Given the description of an element on the screen output the (x, y) to click on. 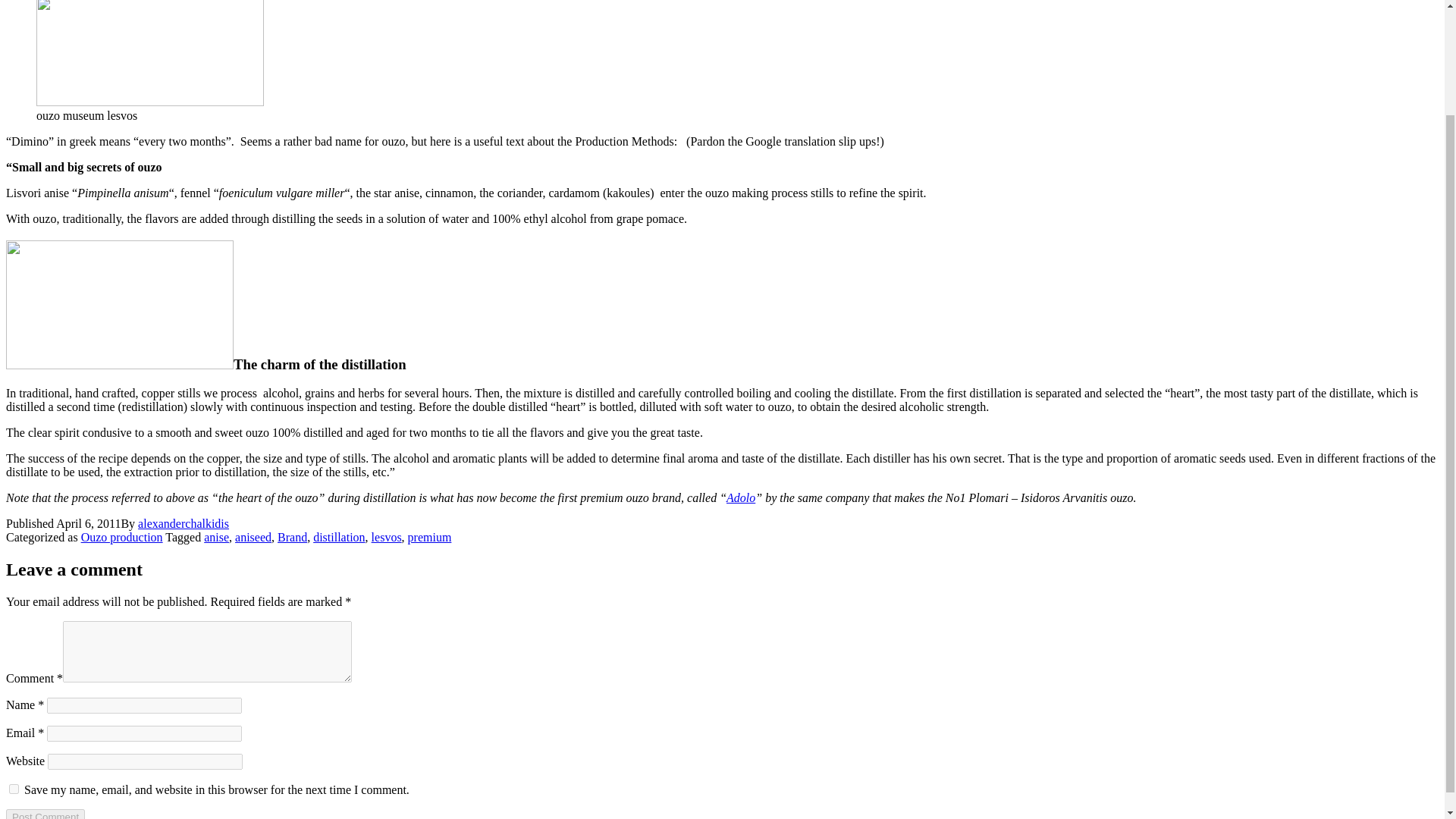
Ouzo production (122, 536)
ouzo museum lesvos (149, 53)
alexanderchalkidis (183, 522)
anise (215, 536)
lesvos (386, 536)
premium (429, 536)
distillation (339, 536)
aniseed (252, 536)
Adolo (740, 497)
ouzo museum lesvos 2 (118, 304)
